Given the description of an element on the screen output the (x, y) to click on. 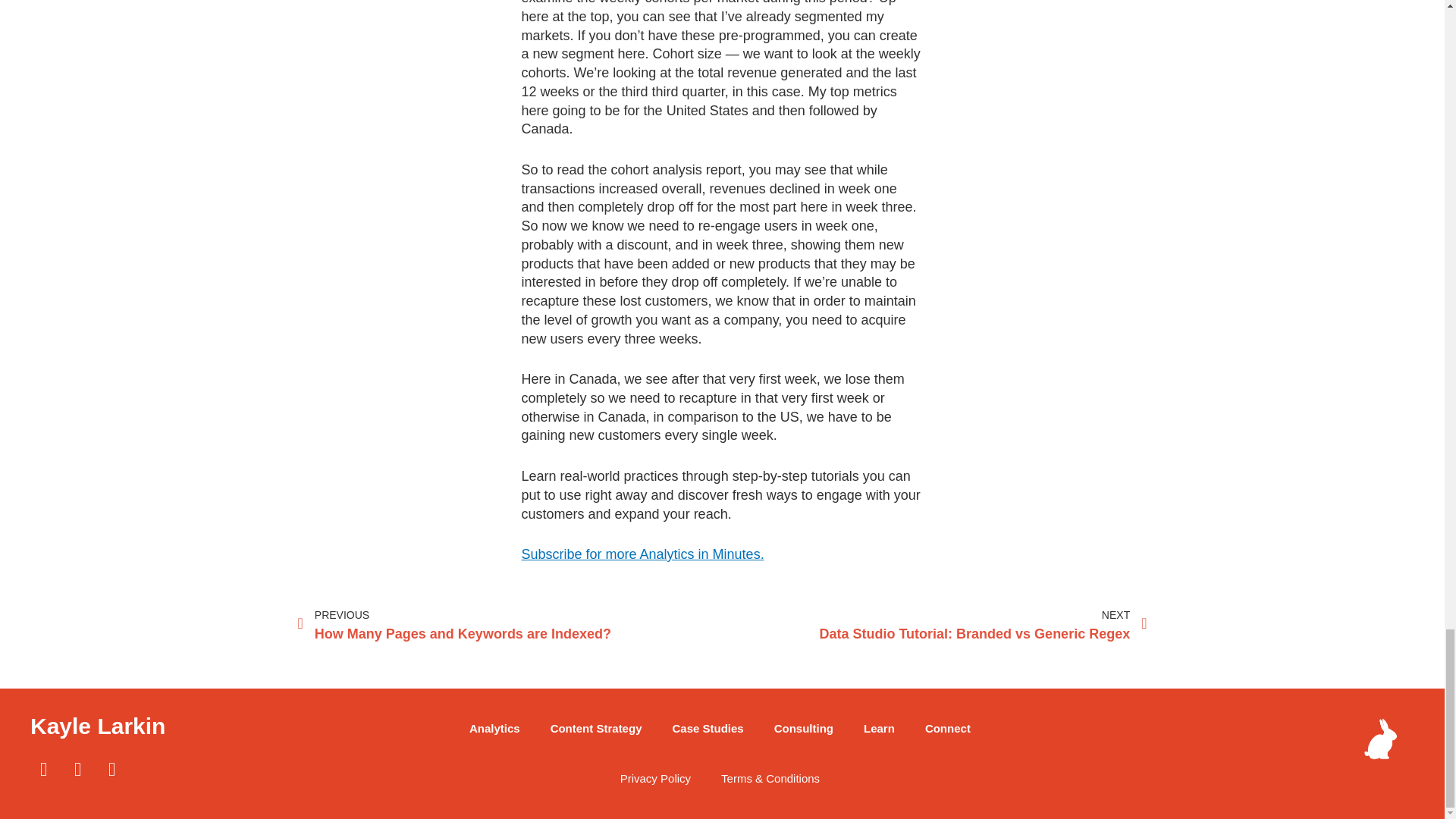
Youtube (112, 768)
Case Studies (707, 728)
Content Strategy (509, 624)
Learn (596, 728)
Connect (879, 728)
Linkedin (947, 728)
Subscribe for more Analytics in Minutes. (43, 768)
Twitter (934, 624)
Analytics (642, 554)
Consulting (77, 768)
